Given the description of an element on the screen output the (x, y) to click on. 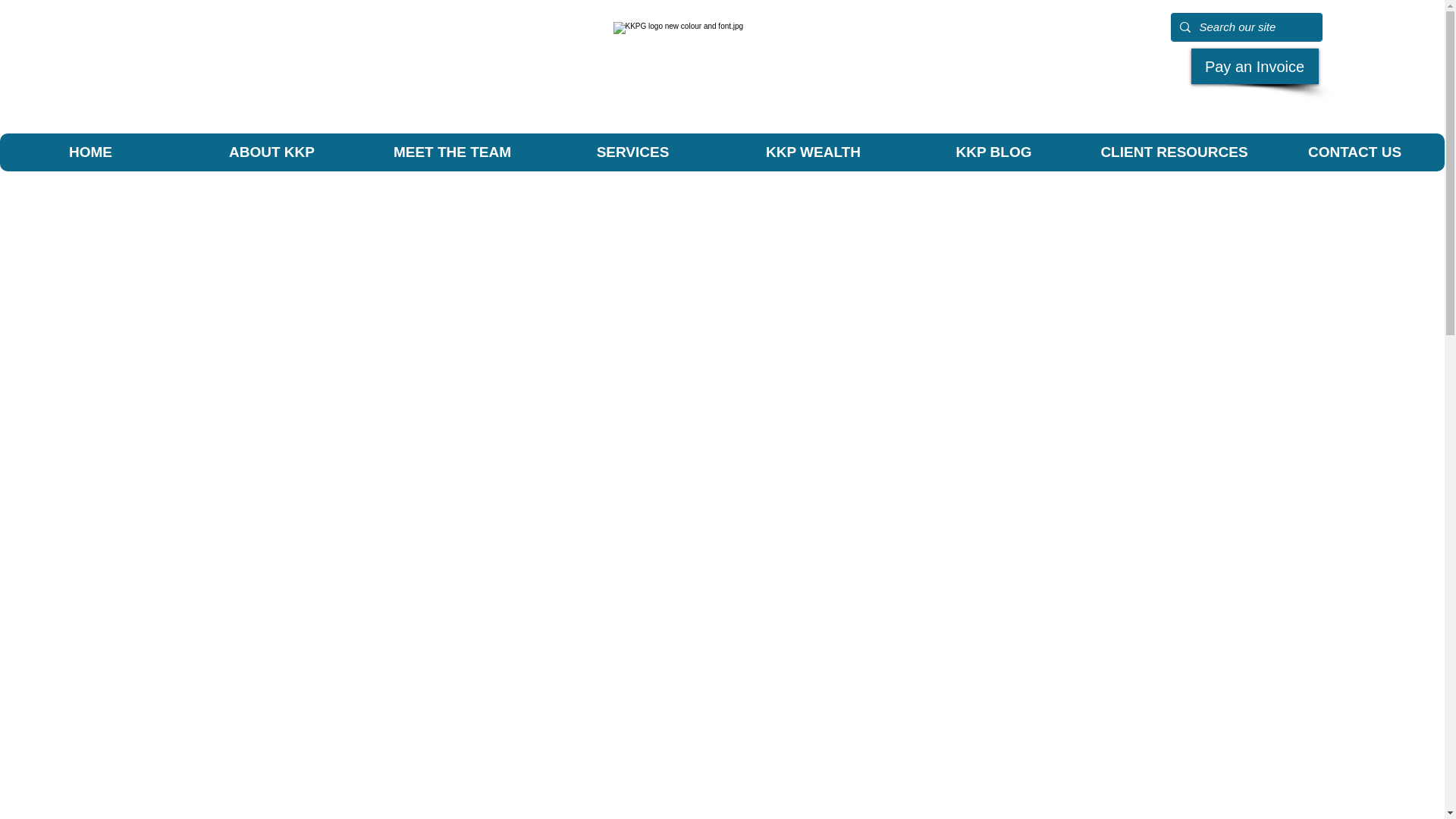
KKP BLOG (992, 152)
Pay an Invoice (1254, 66)
CLIENT RESOURCES (1173, 152)
HOME (90, 152)
KKP WEALTH (812, 152)
ABOUT KKP (270, 152)
MEET THE TEAM (451, 152)
SERVICES (631, 152)
KKP Christmas 2023.jpg (721, 74)
